Given the description of an element on the screen output the (x, y) to click on. 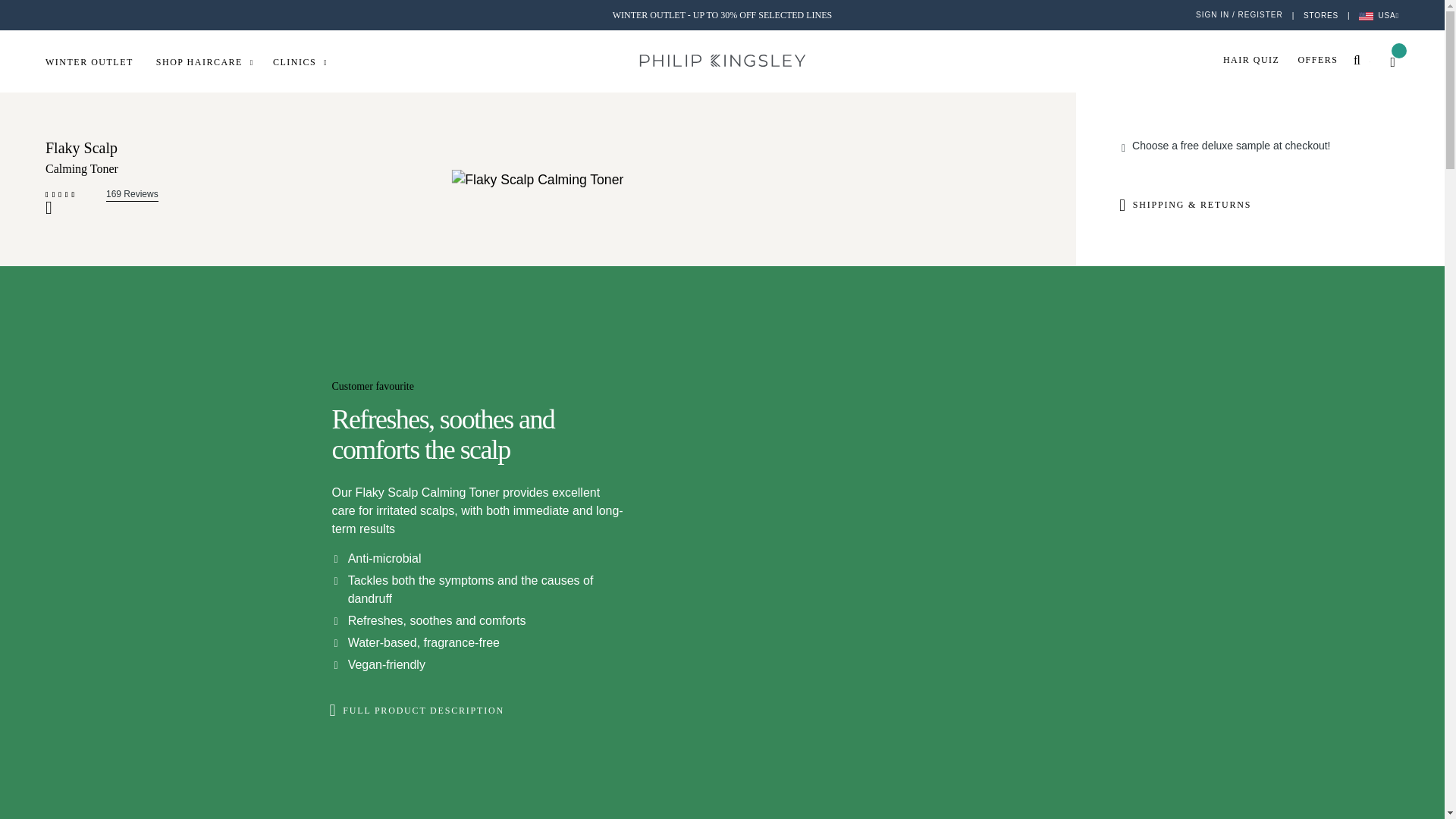
HAIR QUIZ (1260, 60)
SHOP HAIRCARE (214, 61)
STORES (1320, 14)
WINTER OUTLET (100, 62)
OFFERS (1326, 60)
